Given the description of an element on the screen output the (x, y) to click on. 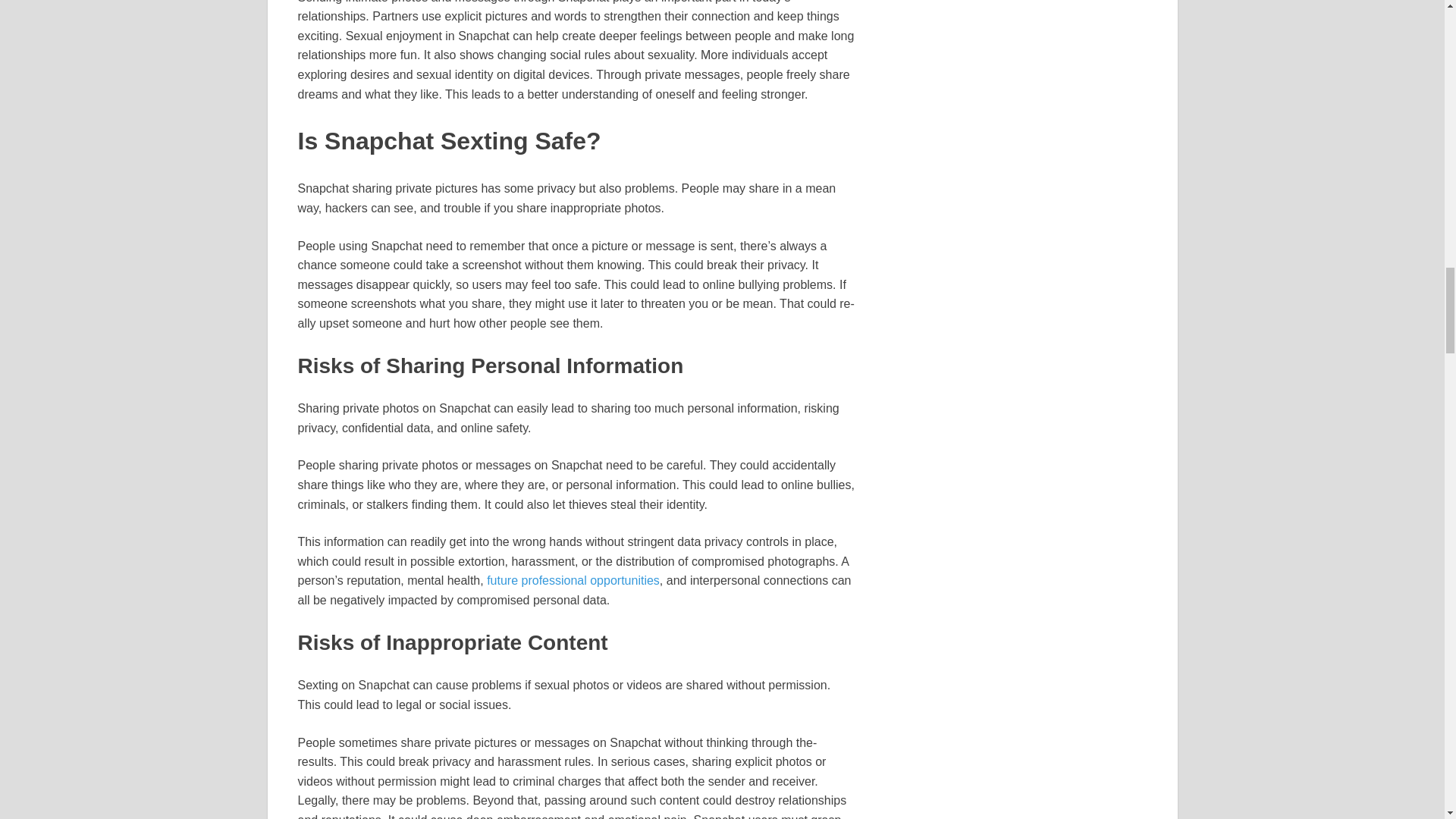
future professional opportunities (572, 580)
